Given the description of an element on the screen output the (x, y) to click on. 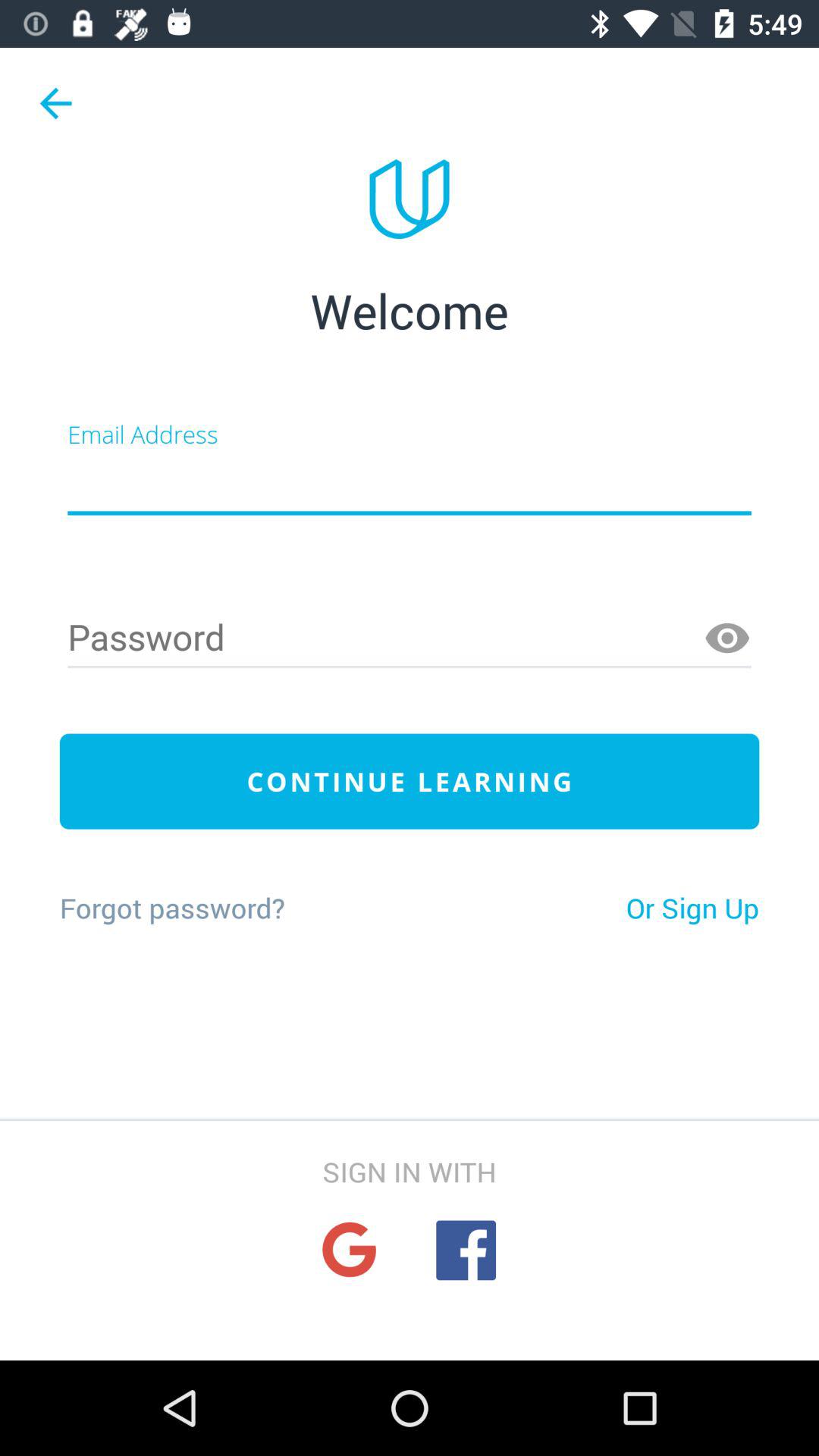
input email address (409, 483)
